Given the description of an element on the screen output the (x, y) to click on. 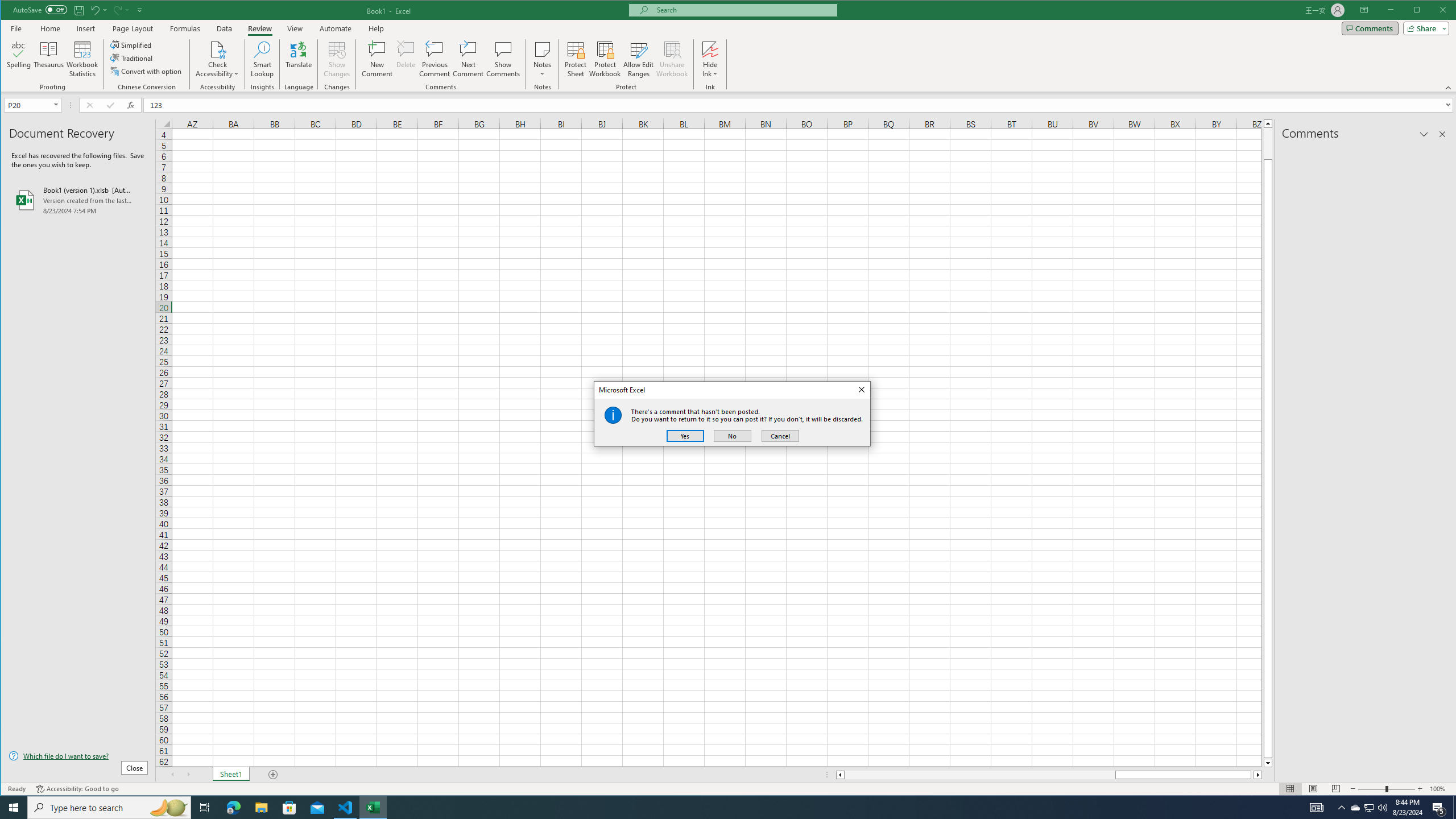
Notes (541, 59)
Maximize (1432, 11)
Action Center, 5 new notifications (1439, 807)
File Explorer (261, 807)
